Given the description of an element on the screen output the (x, y) to click on. 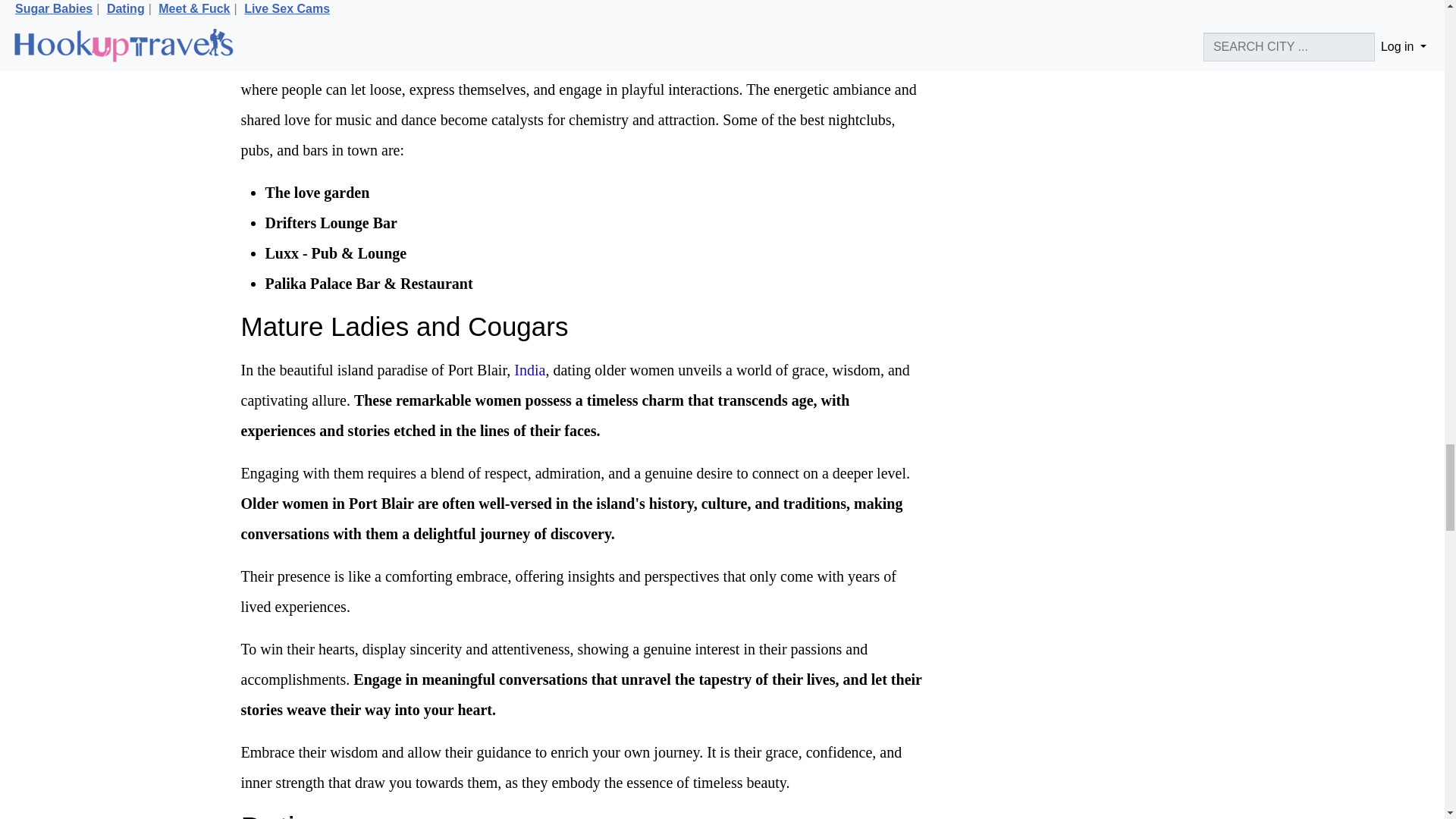
India (528, 369)
India (528, 369)
